Given the description of an element on the screen output the (x, y) to click on. 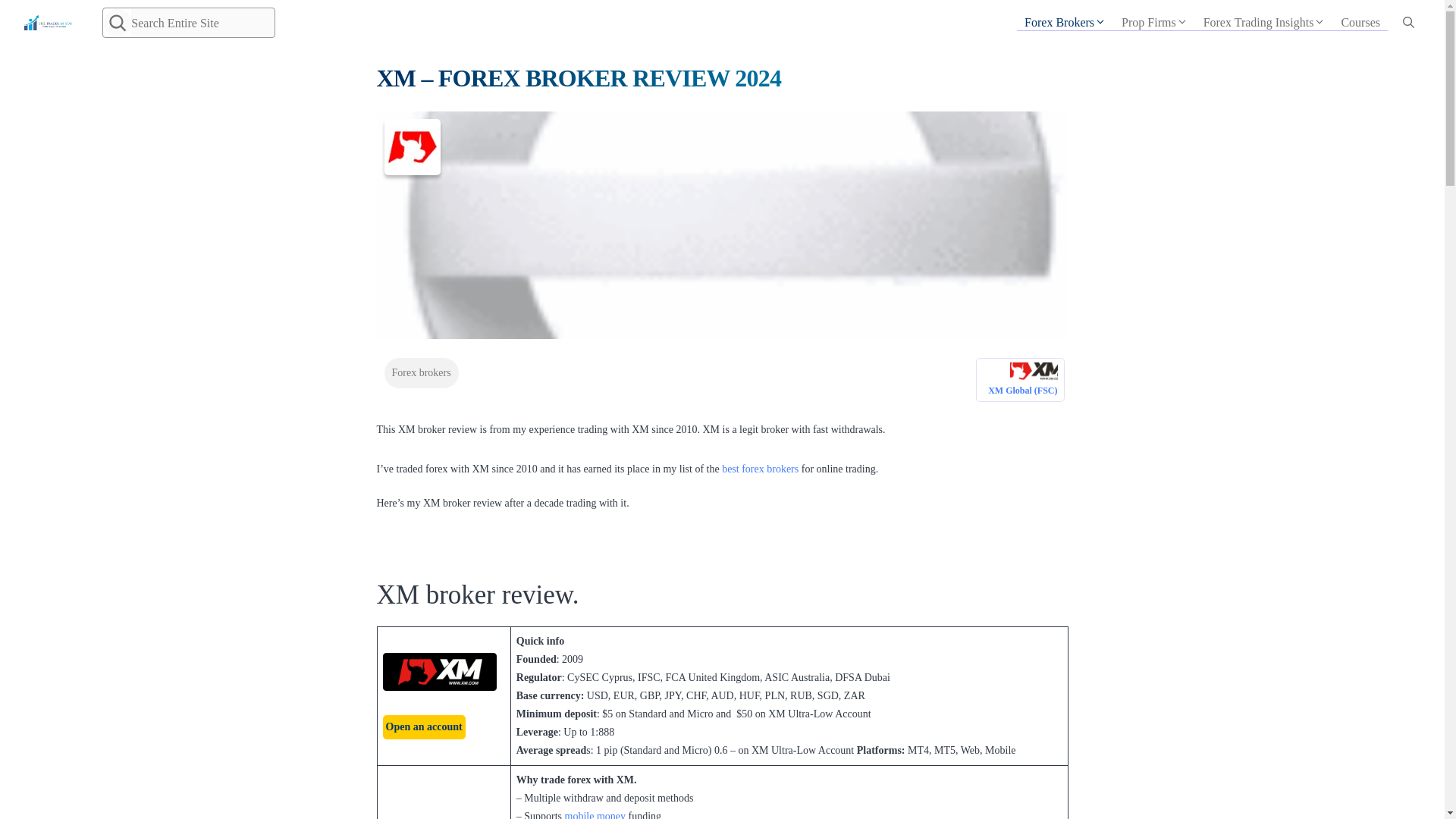
XM - Forex broker review 1 (438, 671)
xm (422, 726)
The Trader In you (47, 22)
Forex Brokers (1064, 22)
